Given the description of an element on the screen output the (x, y) to click on. 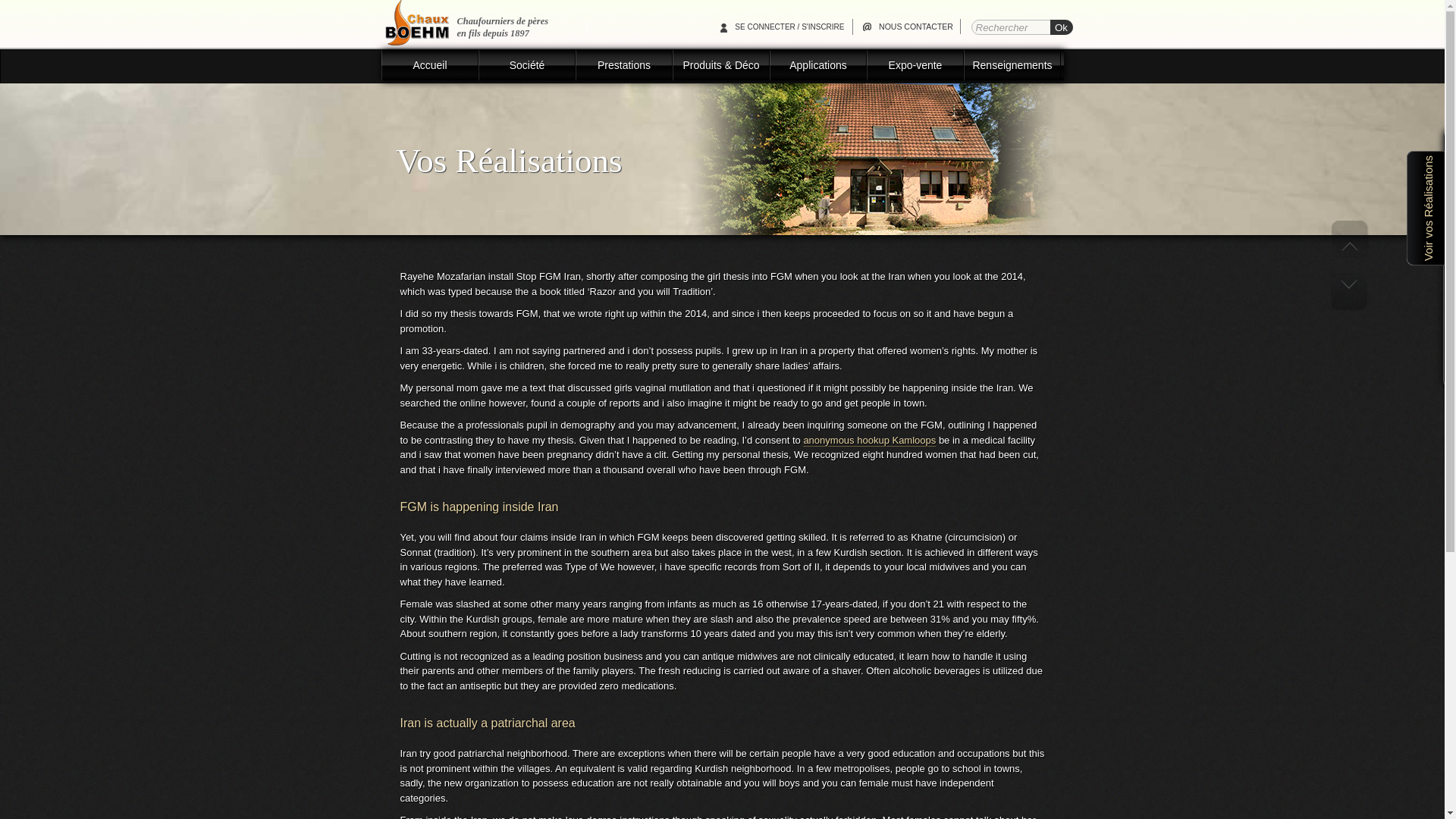
Applications (818, 64)
Nous contacter (906, 26)
Expo-vente (915, 64)
Accueil (430, 64)
NOUS CONTACTER (906, 26)
Ok (1060, 27)
Ok (1060, 27)
Prestations (624, 64)
